Given the description of an element on the screen output the (x, y) to click on. 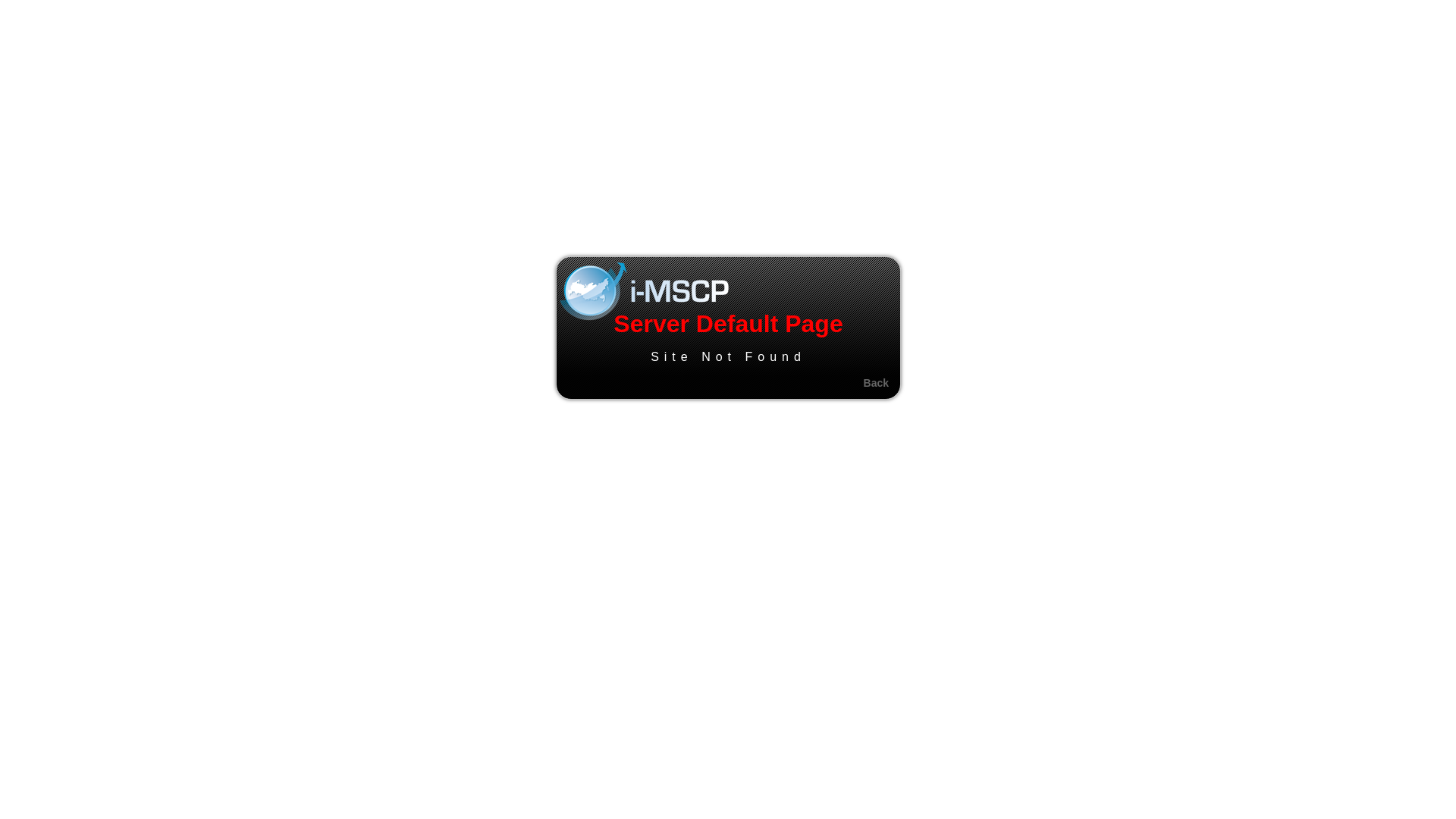
Back Element type: text (875, 382)
